Given the description of an element on the screen output the (x, y) to click on. 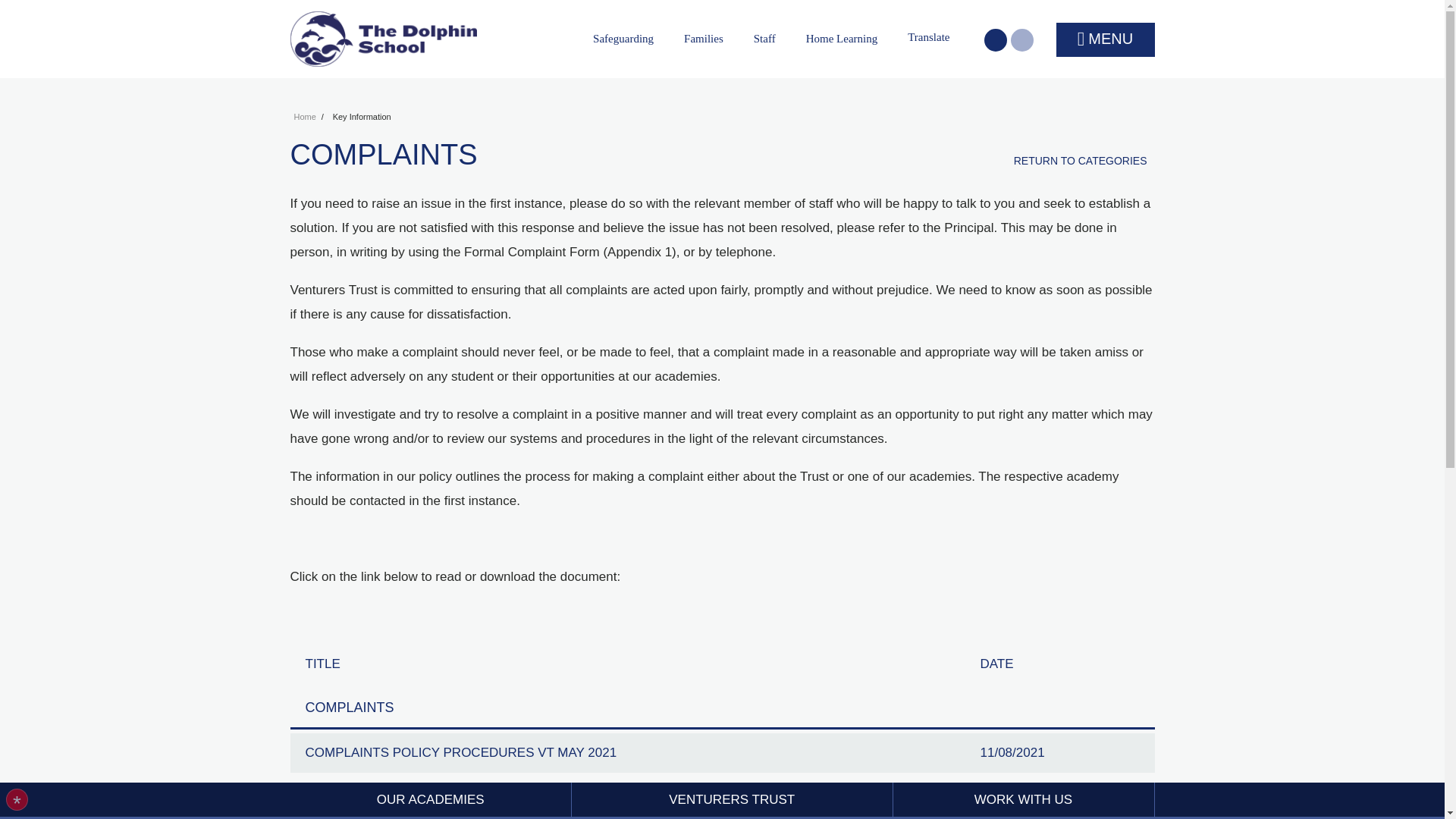
Safeguarding (626, 38)
Twitter (1021, 39)
The Dolphin School (382, 38)
Families (707, 38)
